Given the description of an element on the screen output the (x, y) to click on. 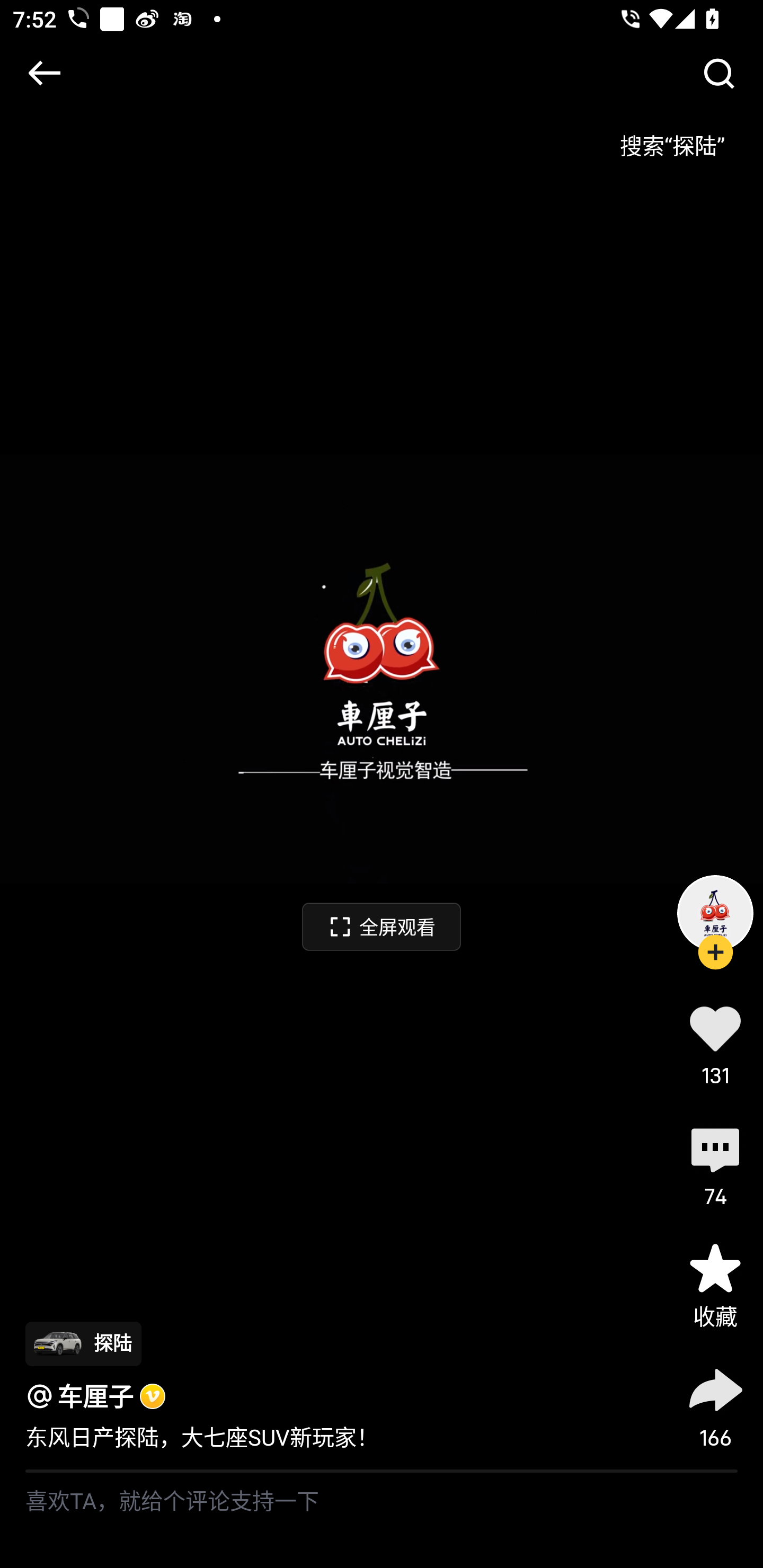
 (44, 72)
 (718, 72)
搜索“探陆” (672, 139)
 全屏观看 (381, 926)
74 (715, 1164)
收藏 (715, 1284)
探陆 (83, 1343)
166 (715, 1405)
车厘子 (95, 1396)
东风日产探陆，大七座SUV新玩家！ (202, 1437)
喜欢TA，就给个评论支持一下 (381, 1520)
